Given the description of an element on the screen output the (x, y) to click on. 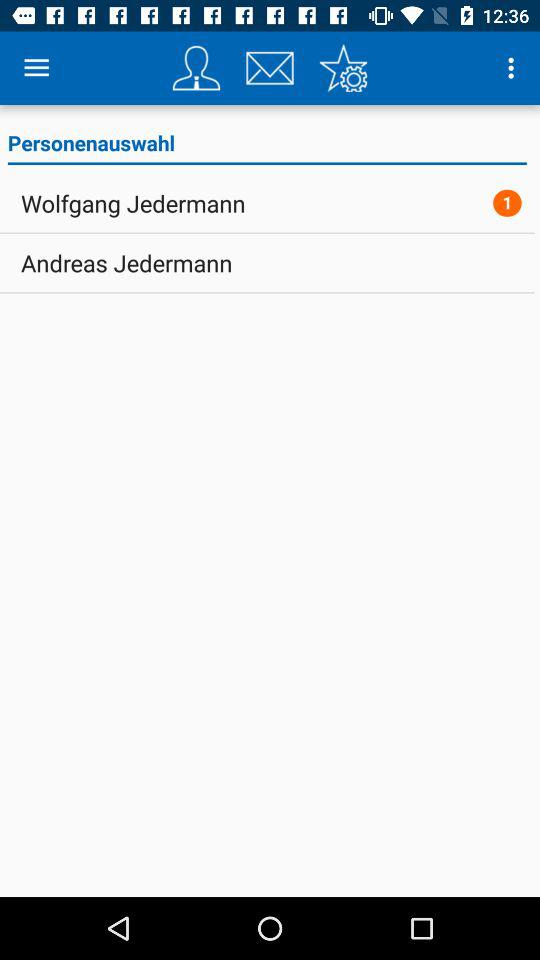
mark as a favorite (343, 67)
